Given the description of an element on the screen output the (x, y) to click on. 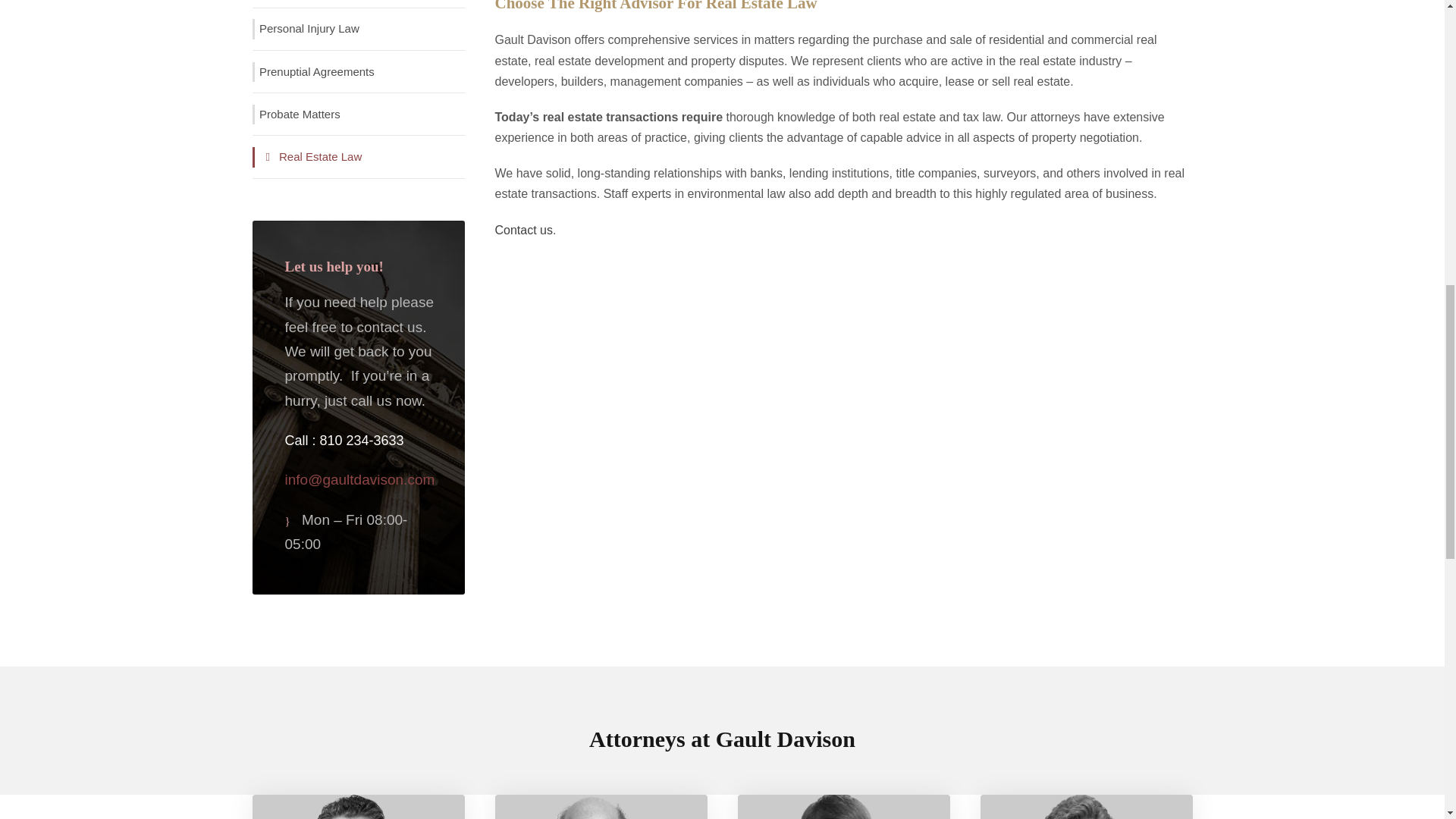
staff-karen (1085, 806)
Probate Matters (297, 114)
attorn-mike (357, 806)
Contact us (523, 229)
attorn-kyle (842, 806)
Personal Injury Law (306, 28)
Prenuptial Agreements (314, 72)
Real Estate Law (308, 157)
attorn-kevin (600, 806)
